Given the description of an element on the screen output the (x, y) to click on. 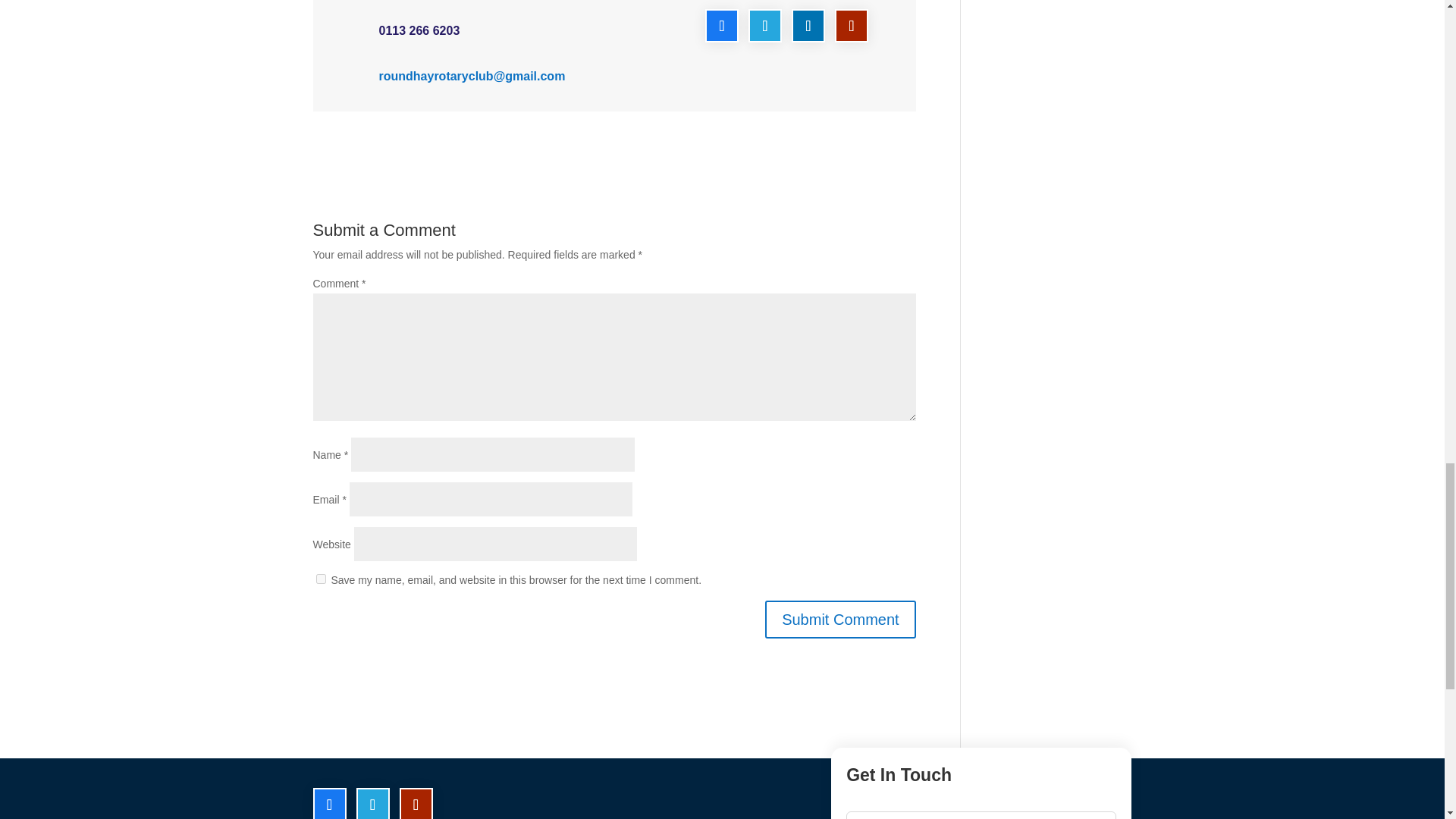
Follow on Facebook (721, 25)
Submit Comment (840, 619)
Follow on X (373, 803)
yes (319, 578)
Follow on Youtube (850, 25)
Submit Comment (840, 619)
Follow on X (764, 25)
Follow on LinkedIn (808, 25)
Follow on Facebook (329, 803)
Follow on Youtube (415, 803)
